Given the description of an element on the screen output the (x, y) to click on. 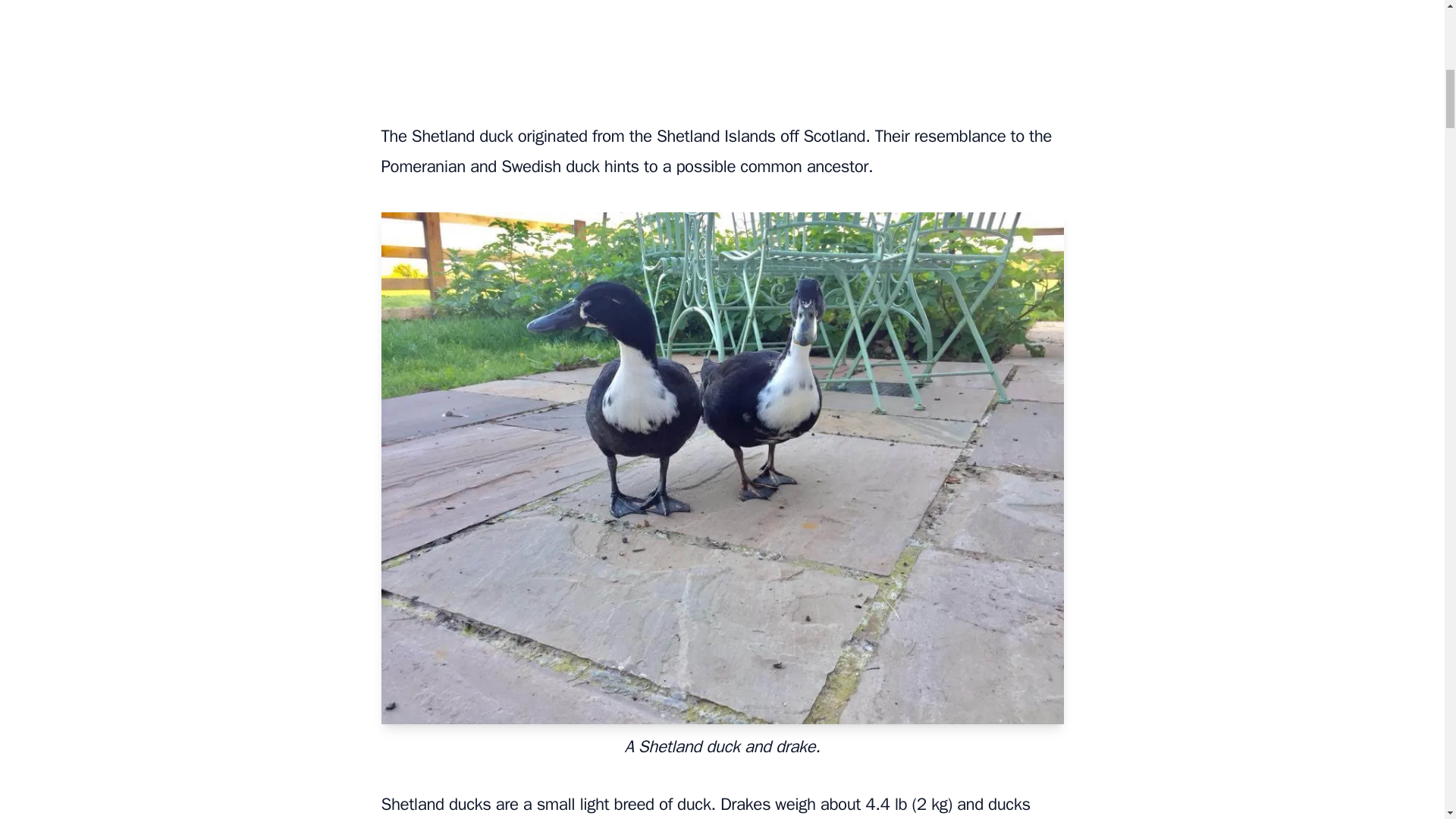
Advertisement (721, 49)
